Given the description of an element on the screen output the (x, y) to click on. 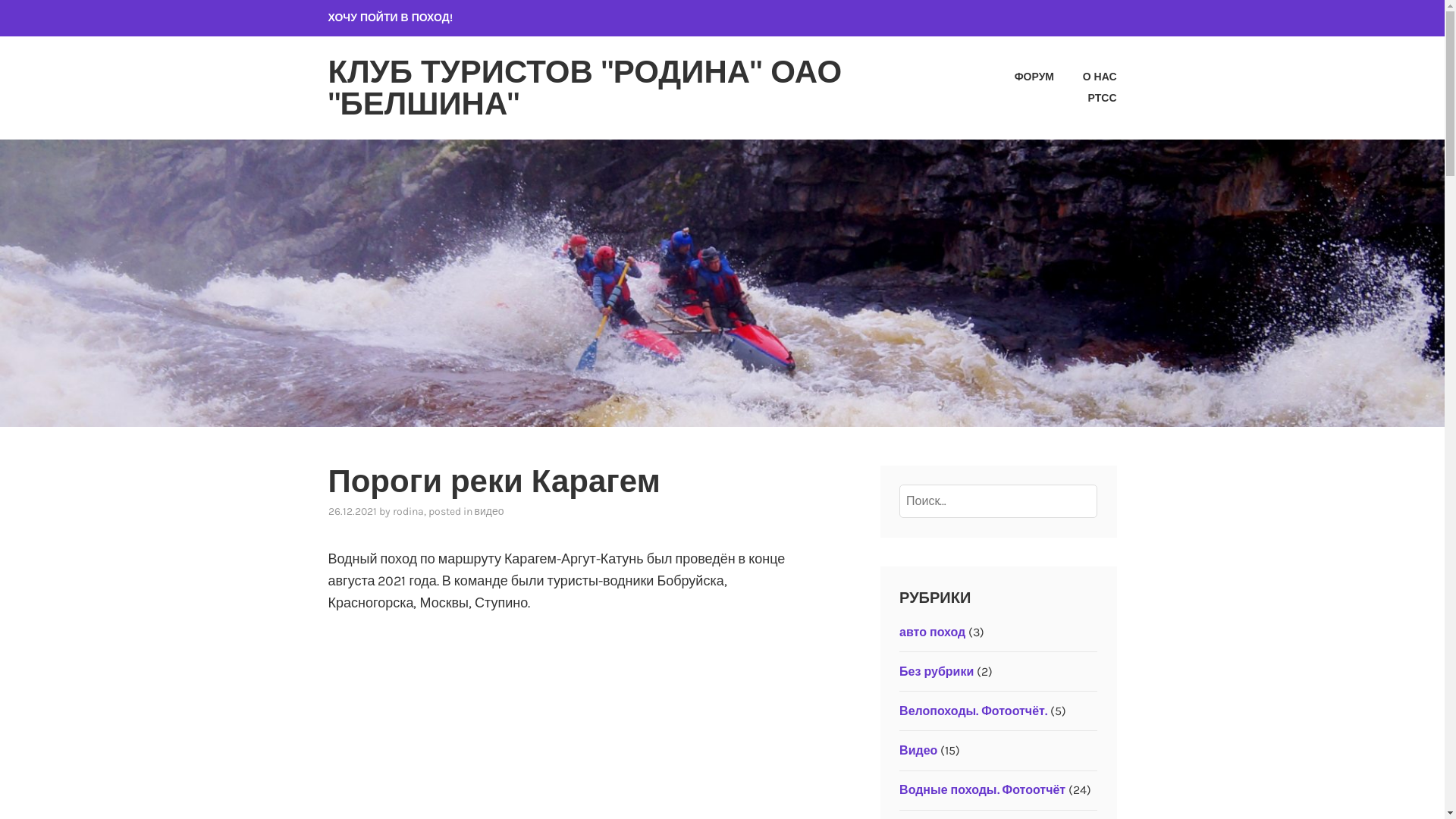
rodina Element type: text (407, 511)
Skip to content Element type: text (0, 0)
26.12.2021 Element type: text (351, 511)
